Given the description of an element on the screen output the (x, y) to click on. 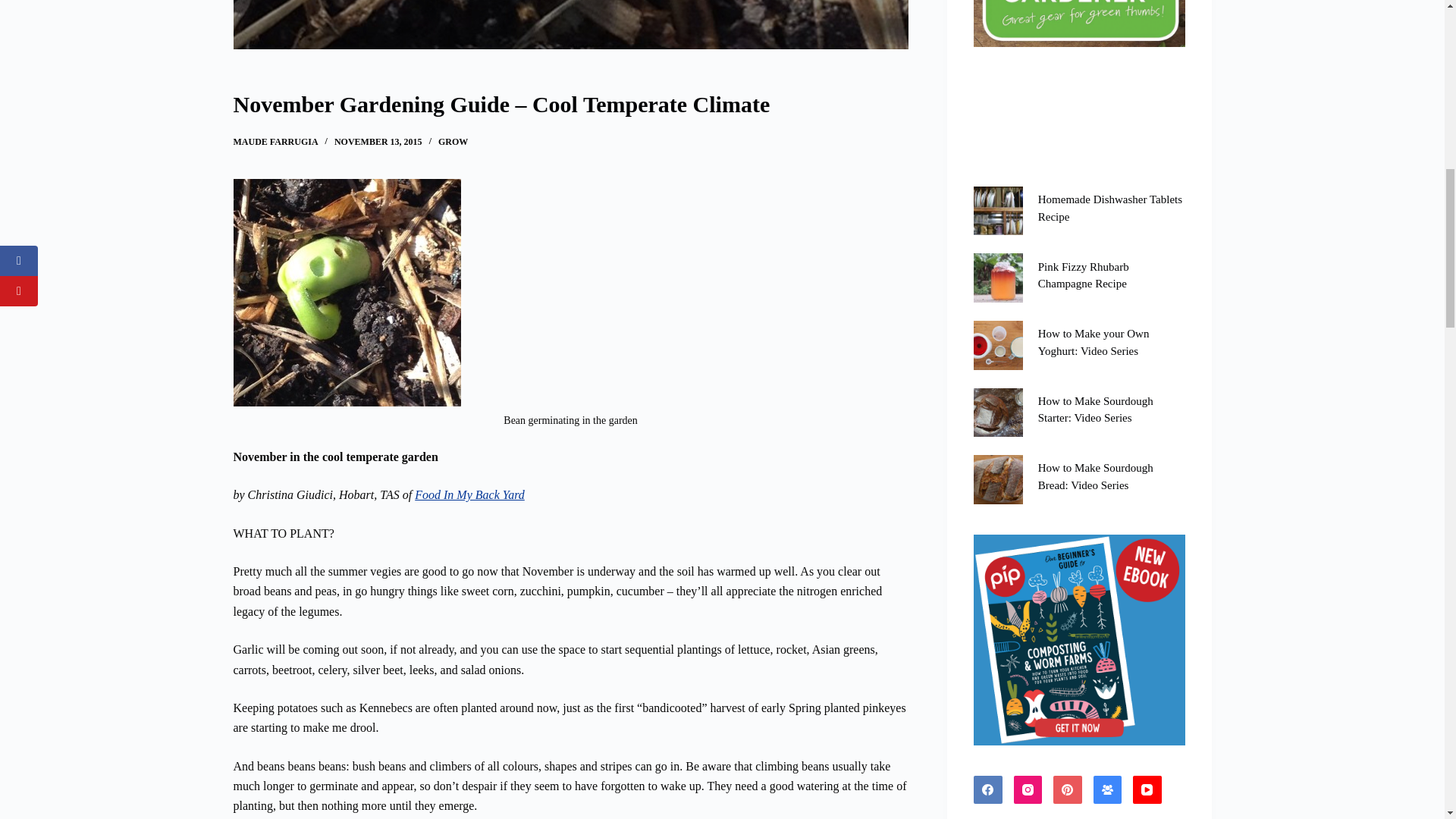
Posts by Maude Farrugia (275, 141)
